Given the description of an element on the screen output the (x, y) to click on. 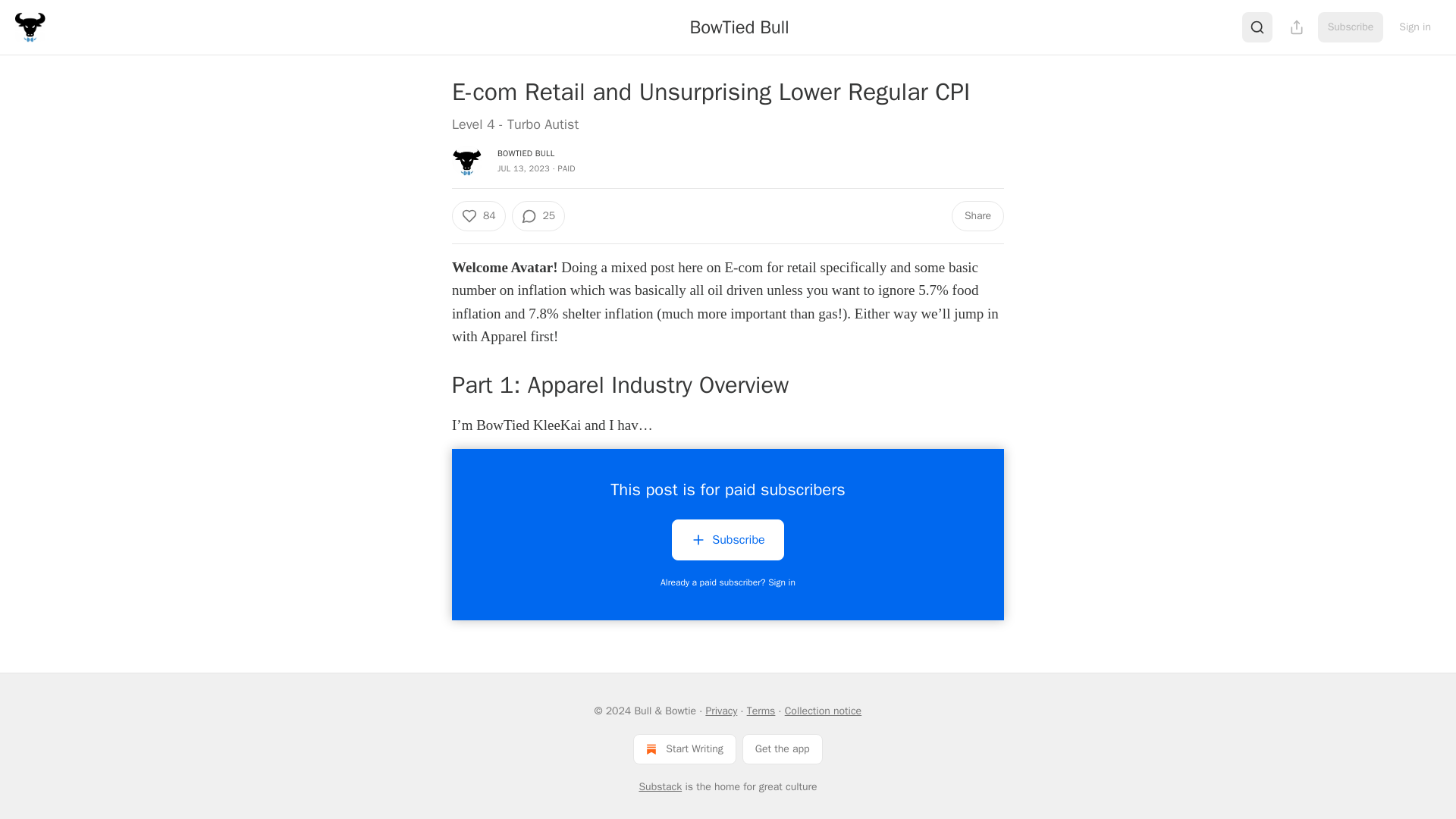
Substack (660, 786)
Already a paid subscriber? Sign in (727, 582)
Subscribe (727, 542)
Get the app (782, 748)
Sign in (1415, 27)
BOWTIED BULL (525, 153)
Share (978, 215)
Terms (761, 710)
25 (537, 215)
Collection notice (822, 710)
84 (478, 215)
Privacy (720, 710)
BowTied Bull (739, 26)
Start Writing (684, 748)
Subscribe (727, 539)
